Given the description of an element on the screen output the (x, y) to click on. 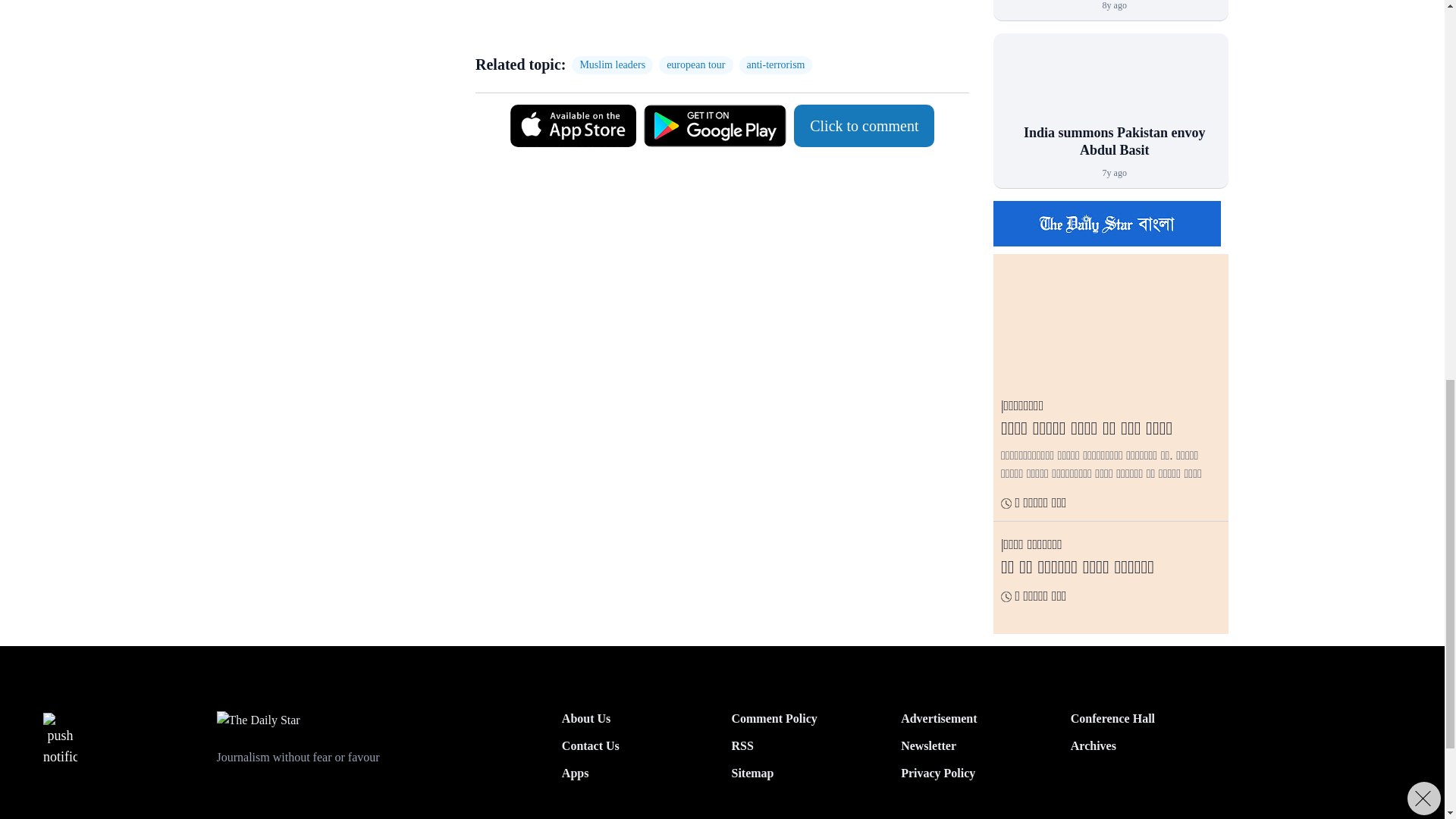
India summons Pakistan envoy Abdul Basit  (1110, 86)
